Given the description of an element on the screen output the (x, y) to click on. 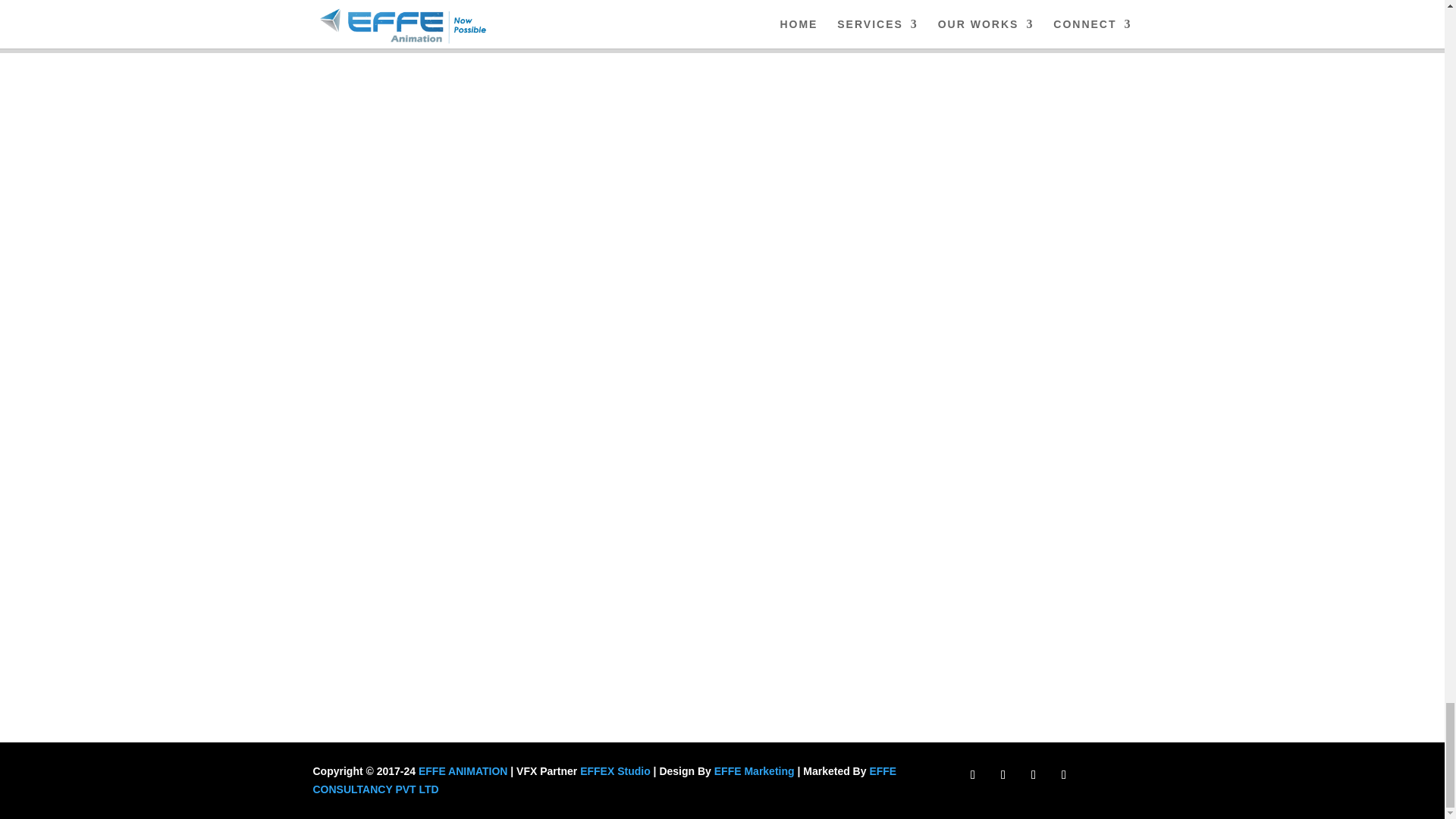
Follow on LinkedIn (1033, 774)
Follow on Instagram (1002, 774)
Follow on Youtube (1063, 774)
Follow on Facebook (972, 774)
